Given the description of an element on the screen output the (x, y) to click on. 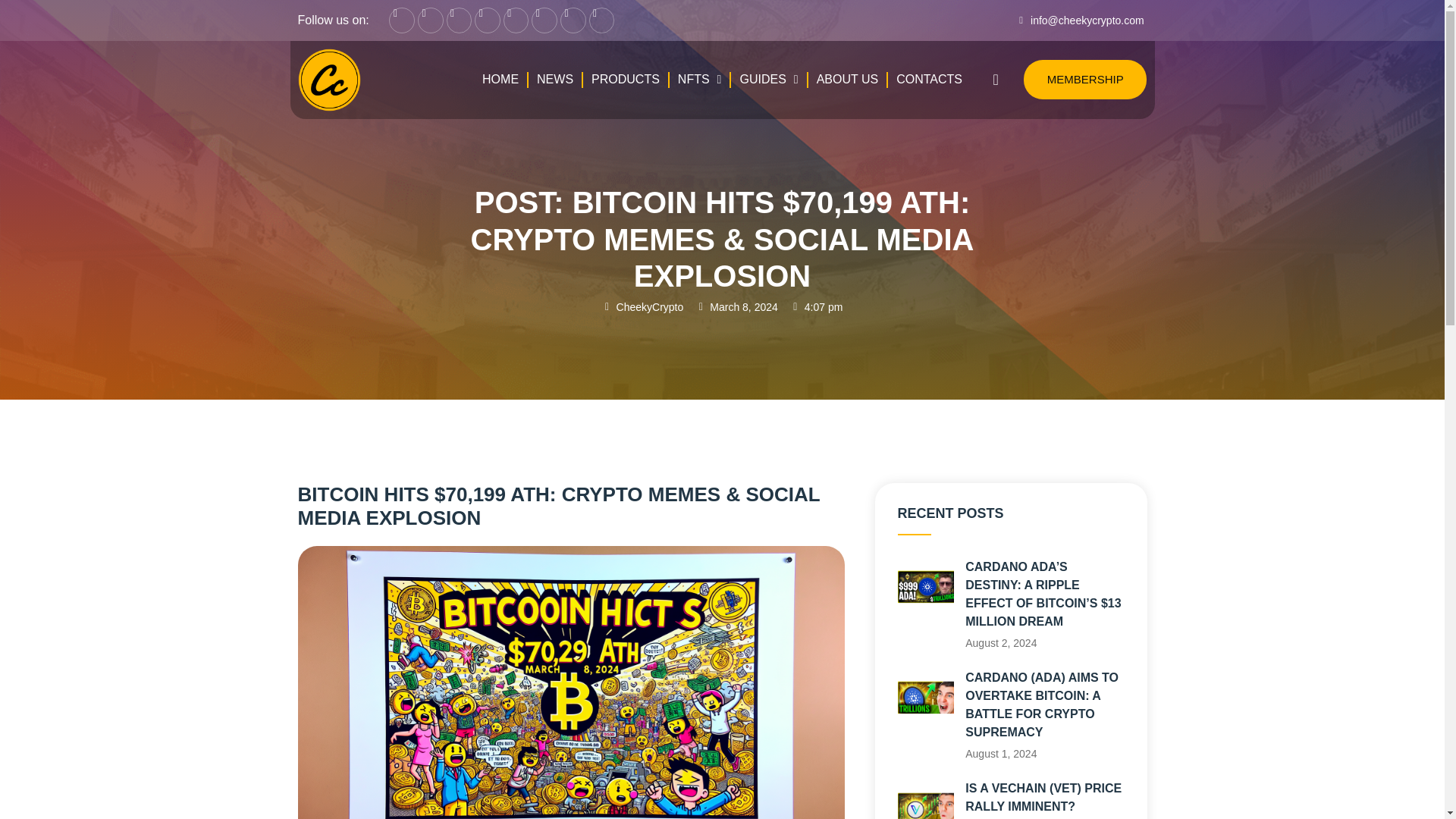
HOME (500, 79)
GUIDES (768, 79)
PRODUCTS (625, 79)
NEWS (554, 79)
ABOUT US (847, 79)
NFTS (699, 79)
CONTACTS (929, 79)
